Given the description of an element on the screen output the (x, y) to click on. 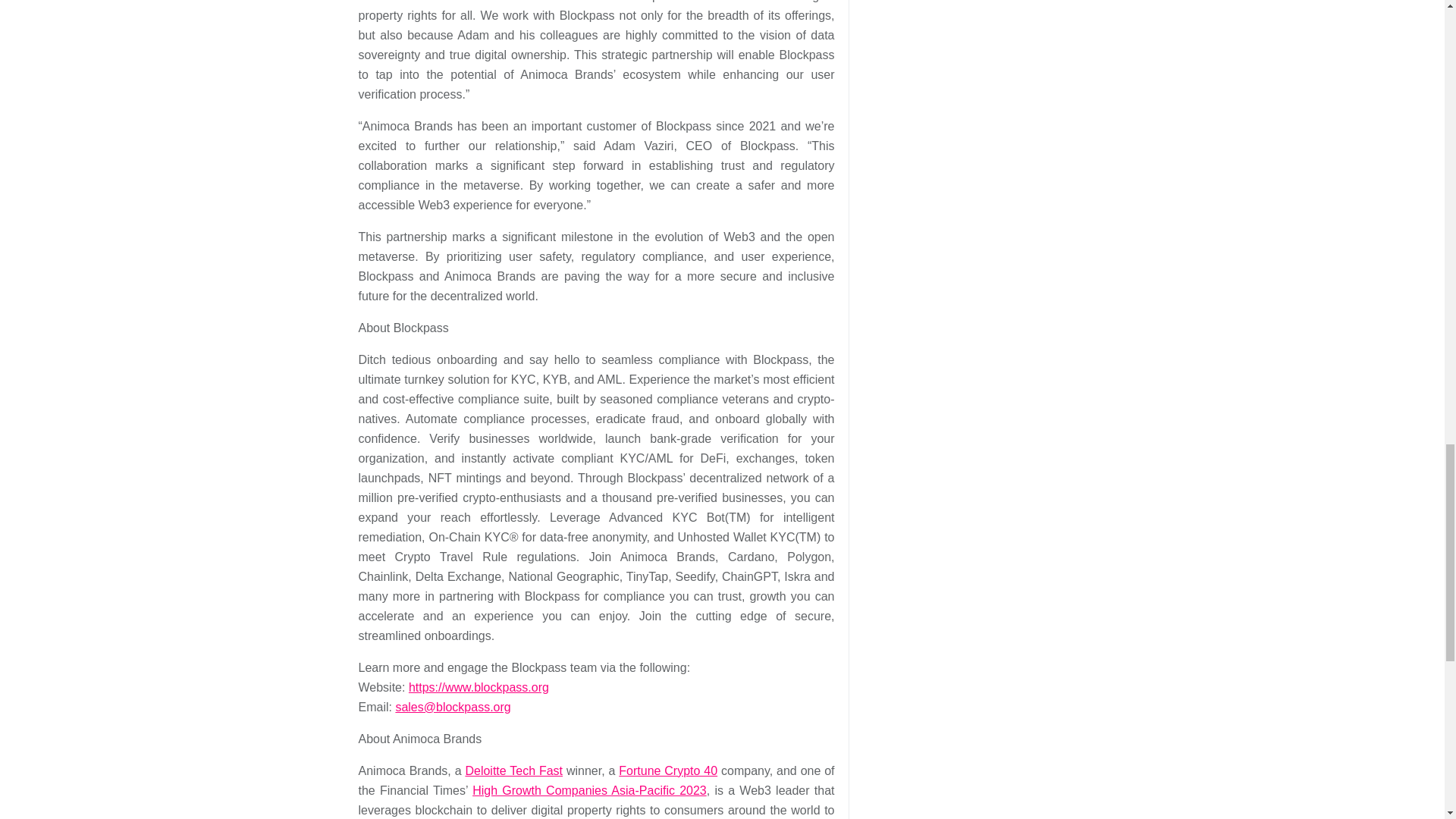
High Growth Companies Asia-Pacific 2023 (588, 789)
Fortune Crypto 40 (667, 770)
Deloitte Tech Fast (513, 770)
